Given the description of an element on the screen output the (x, y) to click on. 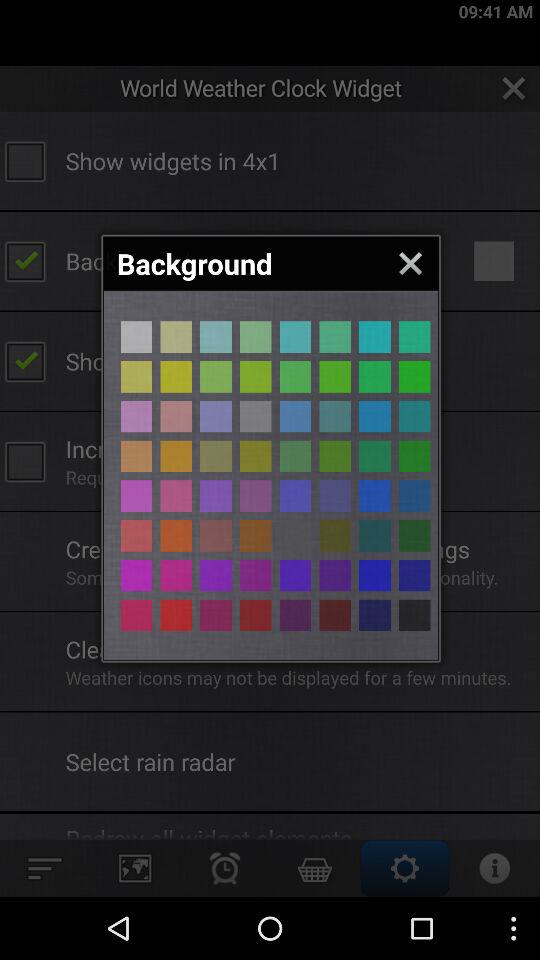
color button (374, 456)
